Given the description of an element on the screen output the (x, y) to click on. 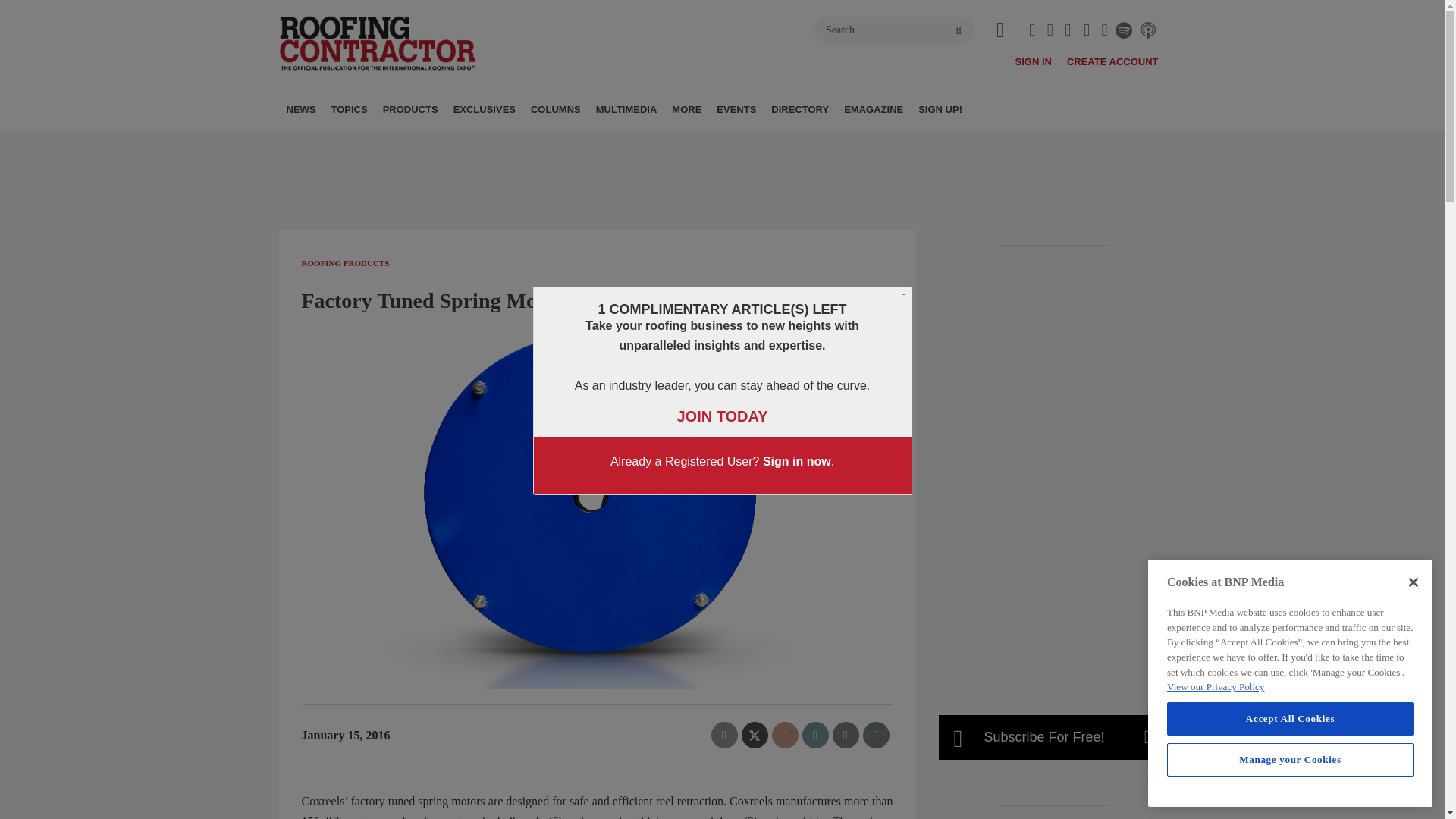
Search (893, 30)
Search (893, 30)
